Given the description of an element on the screen output the (x, y) to click on. 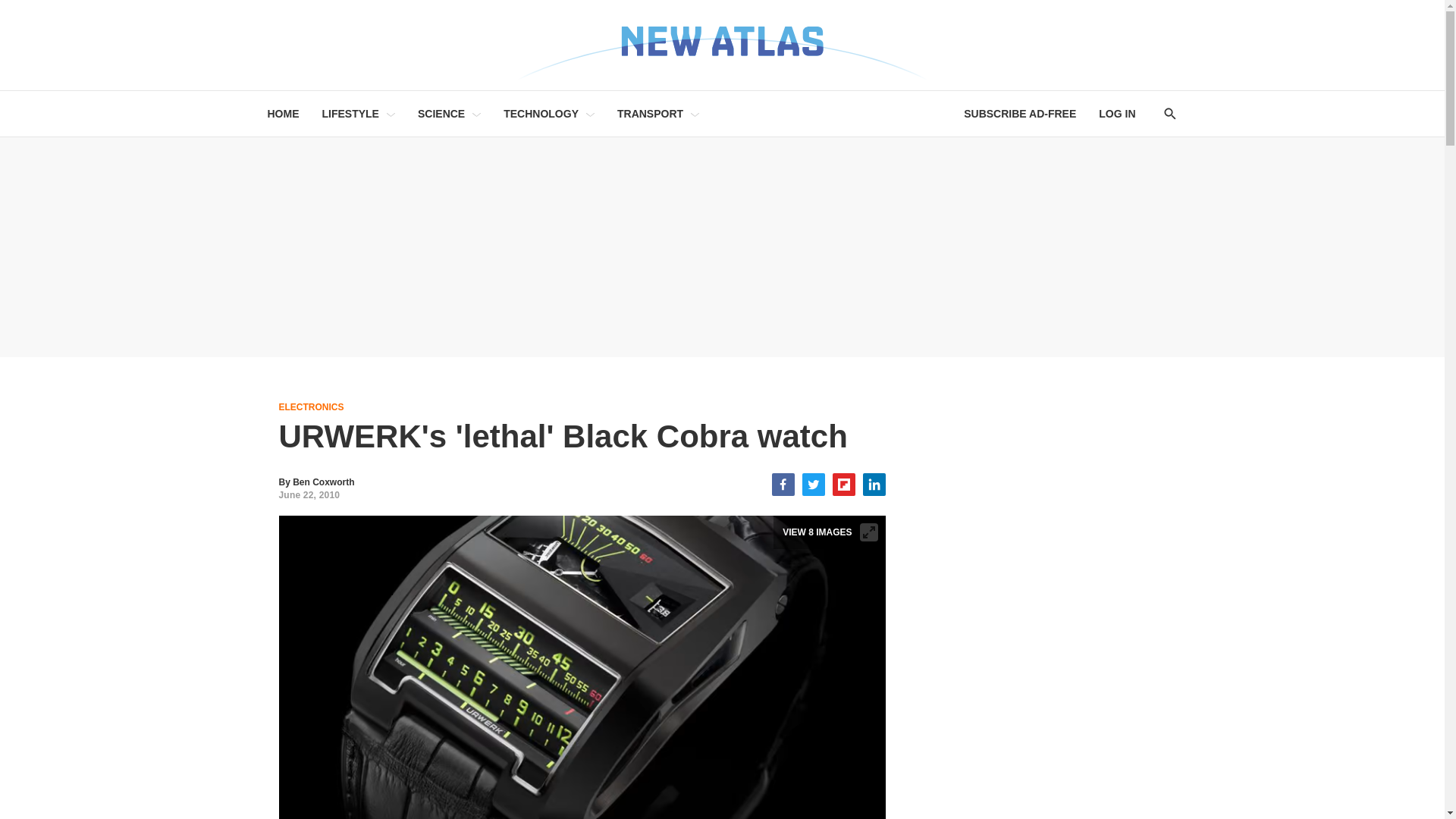
View full-screen (868, 532)
